Given the description of an element on the screen output the (x, y) to click on. 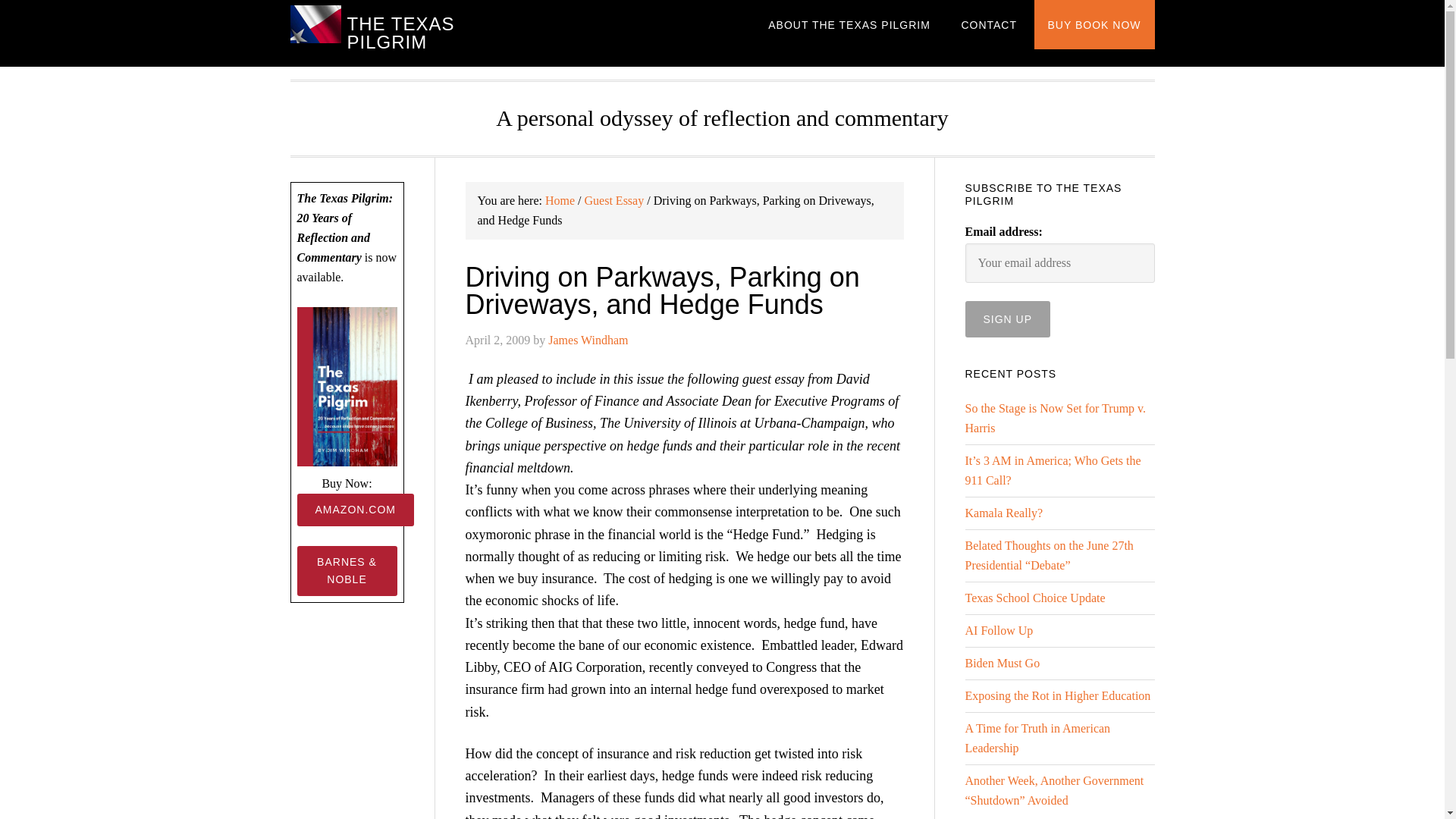
So the Stage is Now Set for Trump v. Harris (1054, 418)
THE TEXAS PILGRIM (400, 32)
Sign up (1006, 319)
Kamala Really? (1002, 512)
Home (559, 200)
CONTACT (988, 24)
BUY BOOK NOW (1093, 24)
Guest Essay (615, 200)
ABOUT THE TEXAS PILGRIM (848, 24)
Exposing the Rot in Higher Education (1056, 695)
